Given the description of an element on the screen output the (x, y) to click on. 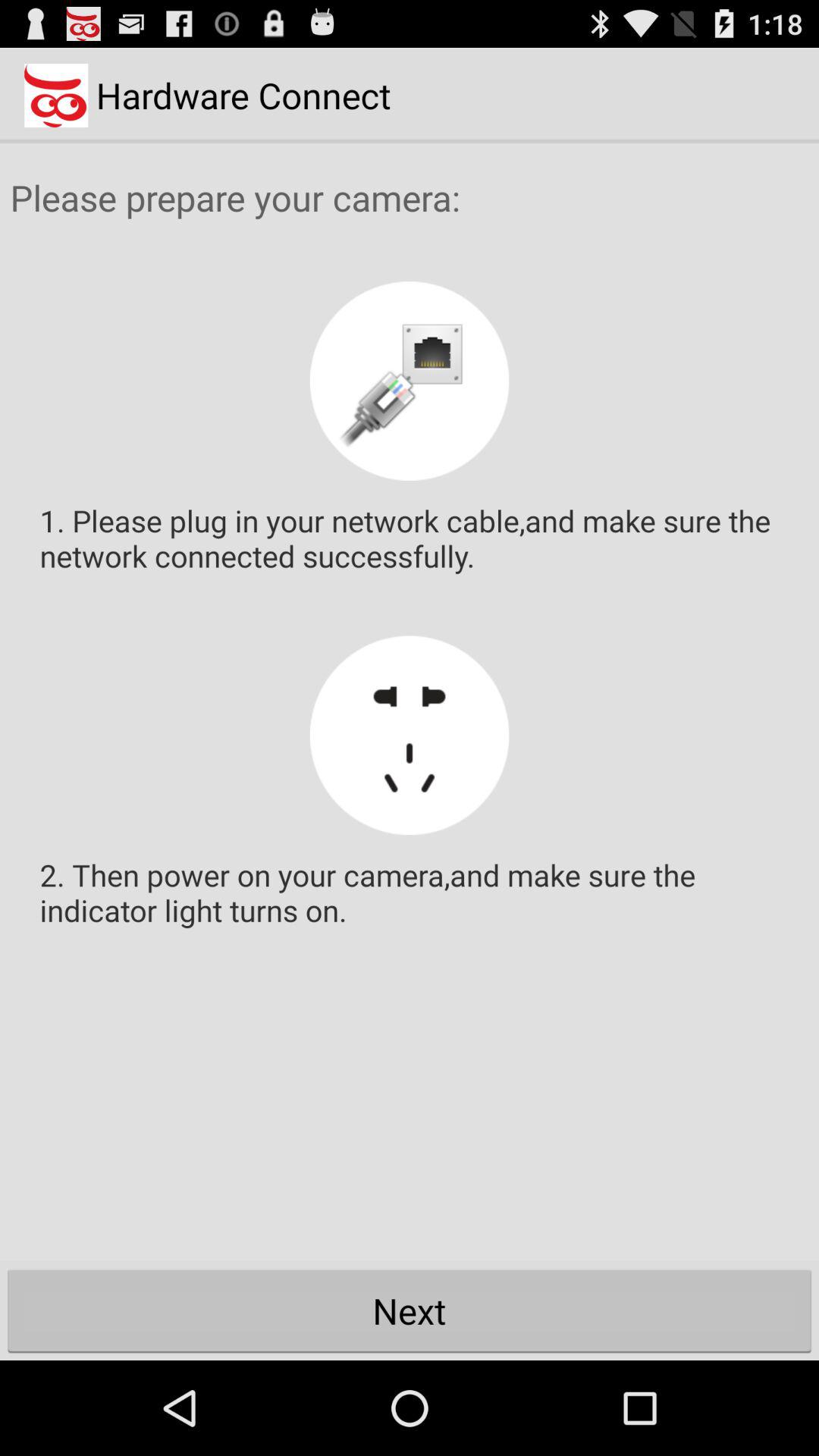
turn off item below the 2 then power item (409, 1310)
